Given the description of an element on the screen output the (x, y) to click on. 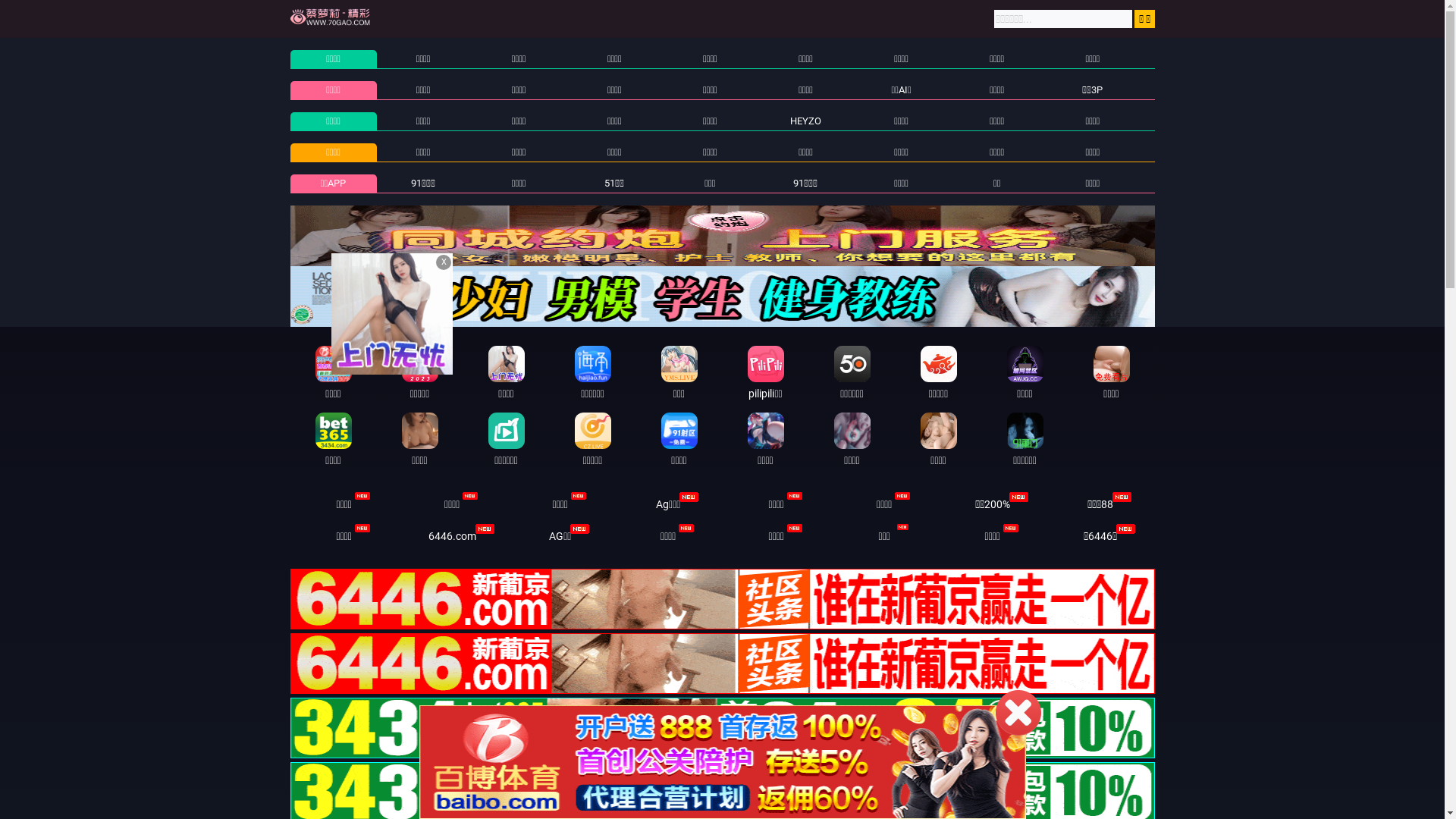
HEYZO Element type: text (805, 120)
6446.com Element type: text (452, 535)
